Given the description of an element on the screen output the (x, y) to click on. 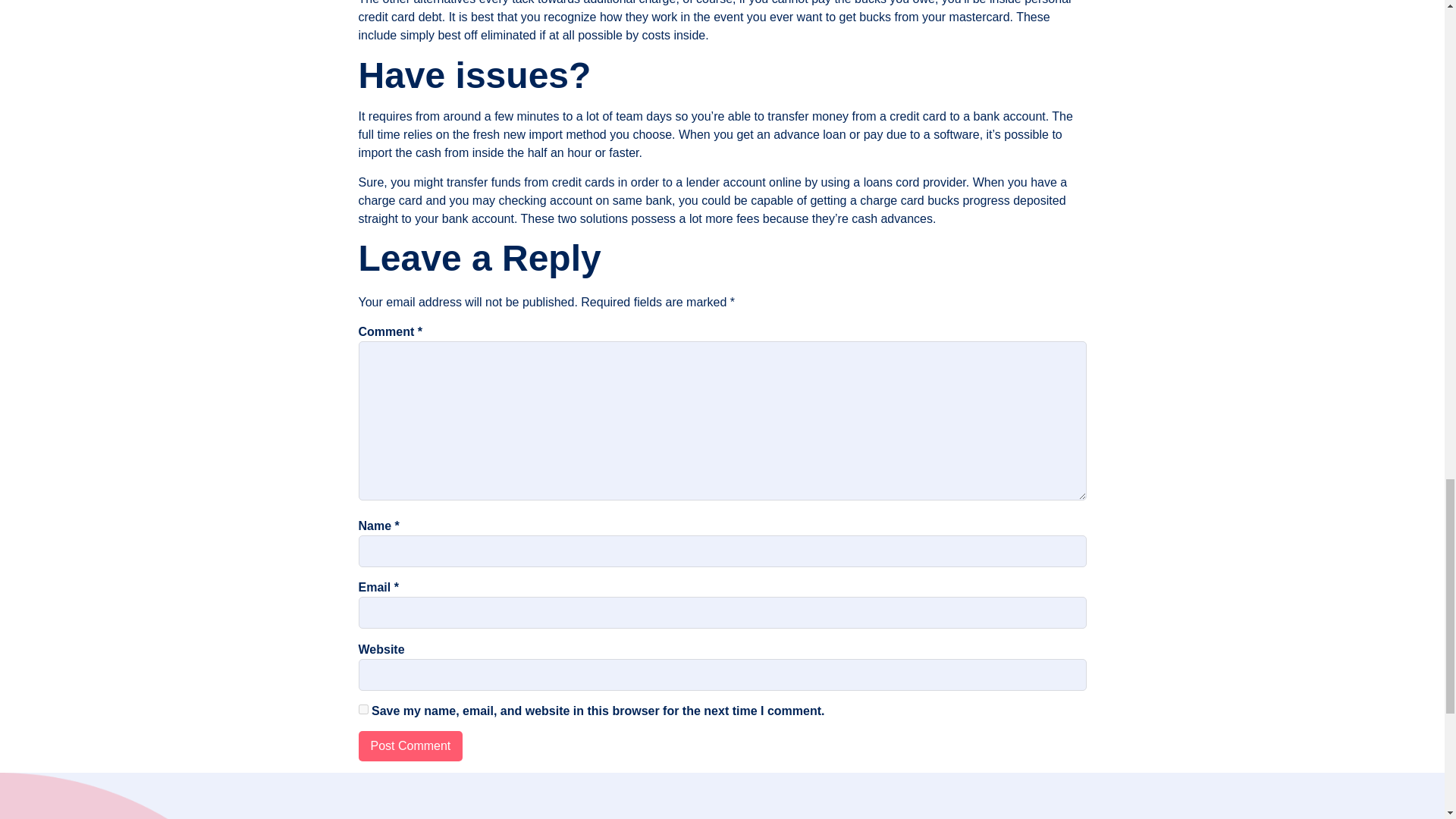
Post Comment (410, 746)
Post Comment (410, 746)
yes (363, 709)
